Given the description of an element on the screen output the (x, y) to click on. 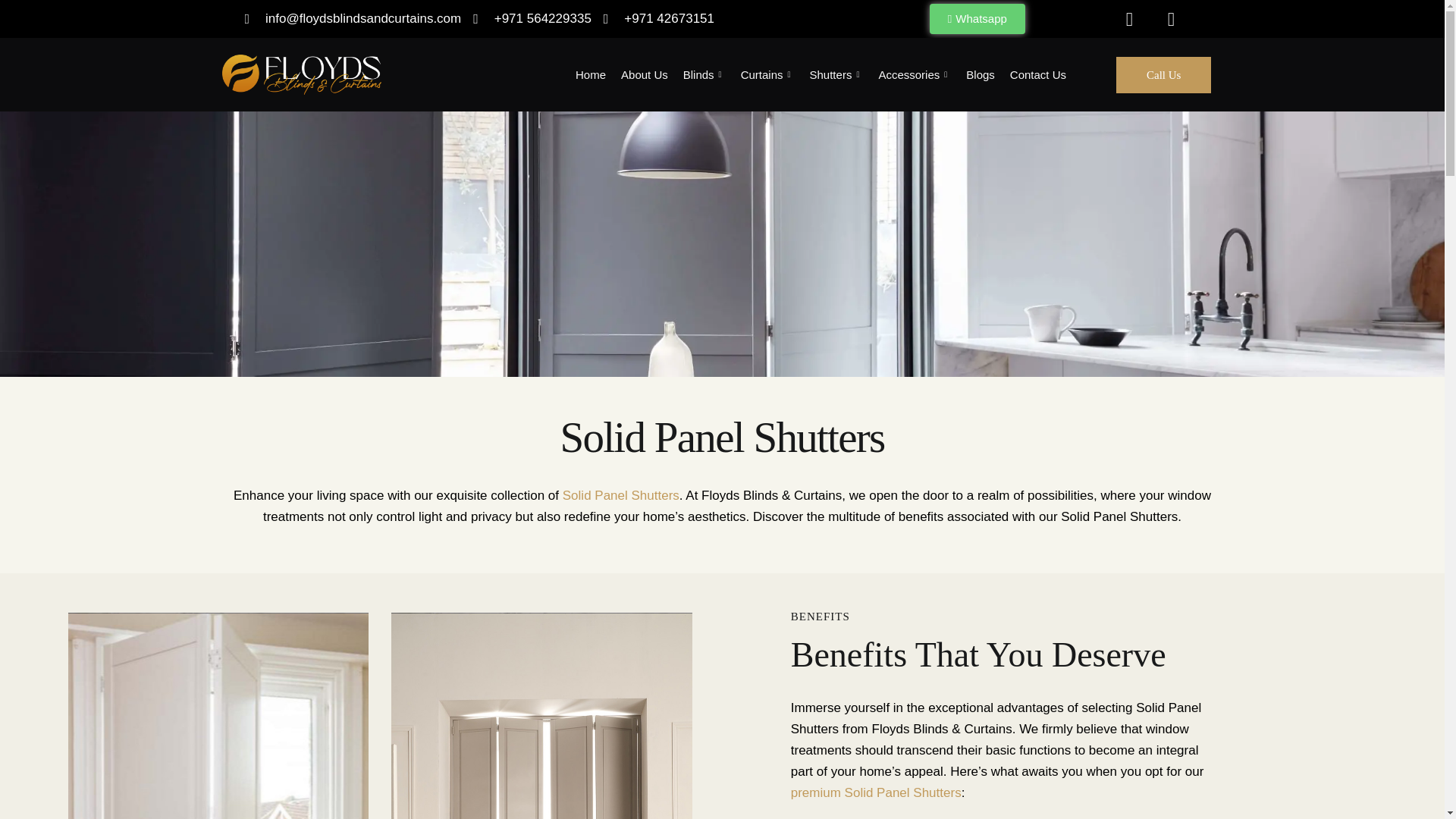
Home (598, 75)
About Us (651, 75)
Blinds (711, 75)
Whatsapp (977, 19)
